Given the description of an element on the screen output the (x, y) to click on. 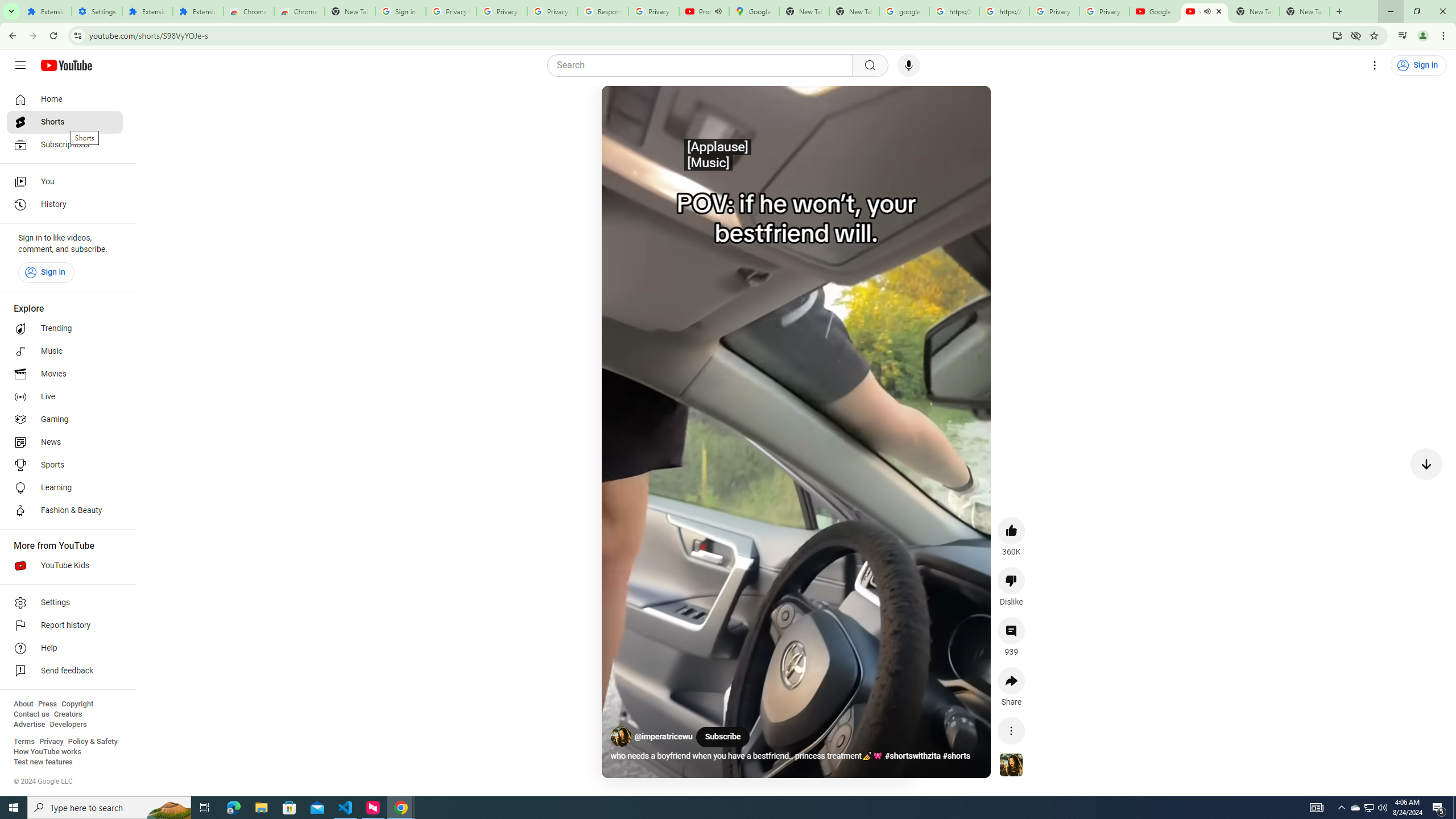
Subscribe (722, 736)
Shorts (64, 121)
Mute (657, 108)
